Given the description of an element on the screen output the (x, y) to click on. 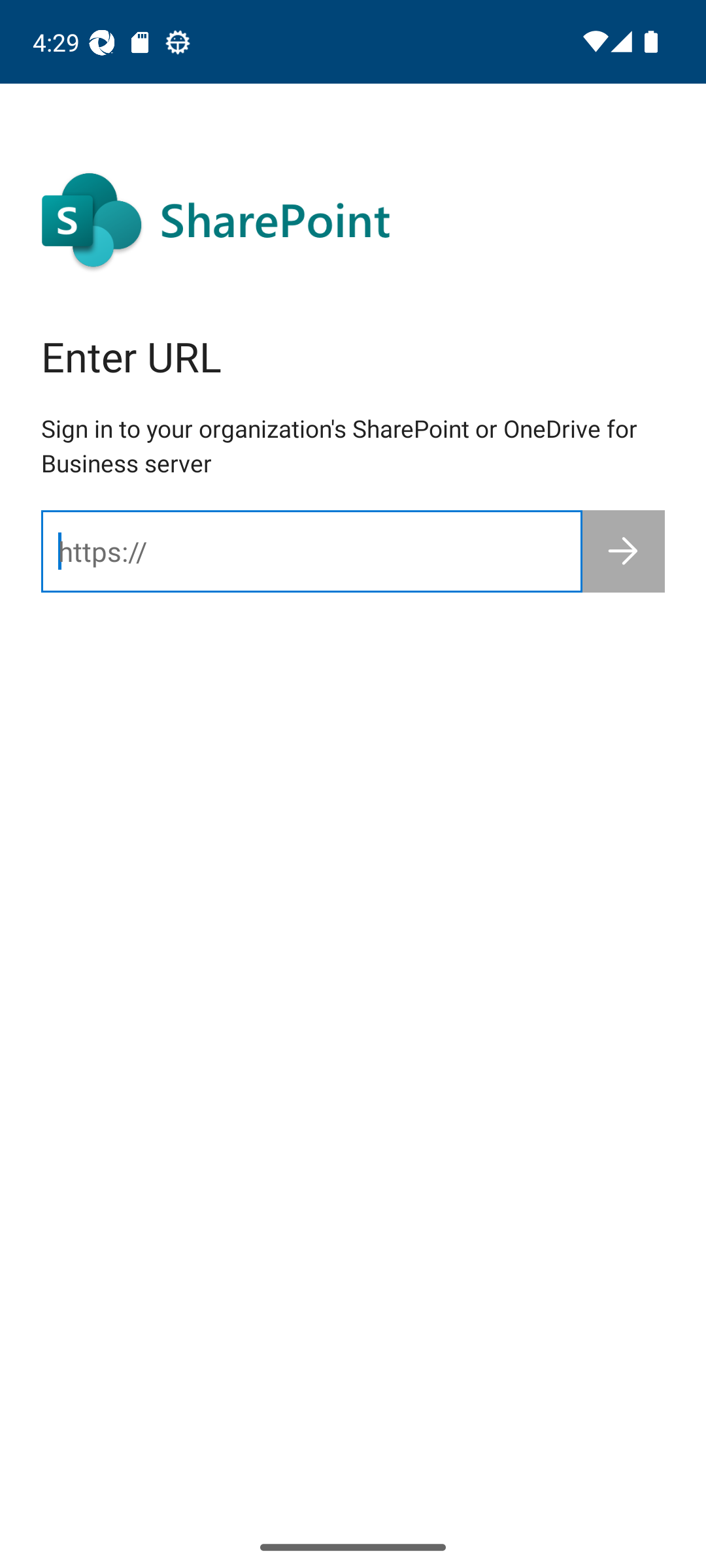
https:// (311, 550)
Next (623, 550)
